Given the description of an element on the screen output the (x, y) to click on. 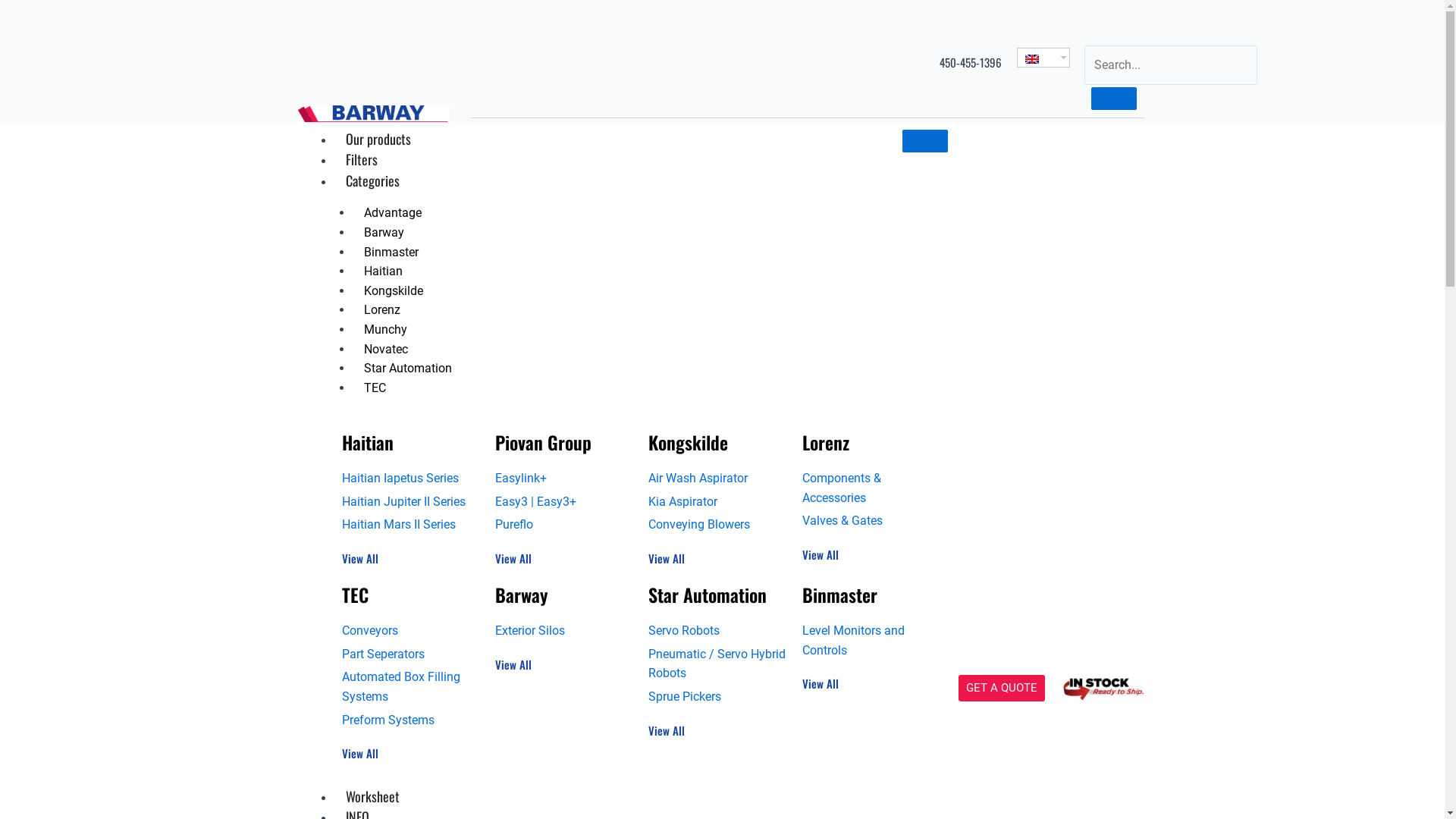
Barway Element type: text (521, 594)
Binmaster Element type: text (390, 251)
Valves & Gates Element type: text (871, 520)
Exterior Silos Element type: text (564, 630)
Haitian Iapetus Series Element type: text (410, 478)
Pneumatic / Servo Hybrid Robots Element type: text (717, 663)
Categories Element type: text (371, 180)
Barway Element type: text (382, 232)
Preform Systems Element type: text (410, 720)
Servo Robots Element type: text (717, 630)
Air Wash Aspirator Element type: text (717, 478)
Conveying Blowers Element type: text (717, 524)
View All Element type: text (668, 558)
Piovan Group Element type: text (543, 441)
Star Automation Element type: text (406, 367)
Kia Aspirator Element type: text (717, 501)
GET A QUOTE Element type: text (1001, 687)
TEC Element type: text (373, 387)
Automated Box Filling Systems Element type: text (410, 686)
Pureflo Element type: text (564, 524)
English Element type: hover (1031, 58)
View All Element type: text (822, 554)
Components & Accessories Element type: text (871, 487)
View All Element type: text (515, 664)
View All Element type: text (515, 558)
Level Monitors and Controls Element type: text (871, 640)
Star Automation Element type: text (707, 594)
Haitian Jupiter II Series Element type: text (410, 501)
View All Element type: text (822, 683)
Our products Element type: text (377, 138)
Kongskilde Element type: text (688, 441)
Easy3 | Easy3+ Element type: text (564, 501)
Haitian Element type: text (366, 441)
Sprue Pickers Element type: text (717, 696)
Binmaster Element type: text (839, 594)
Kongskilde Element type: text (392, 290)
View All Element type: text (361, 753)
Worksheet Element type: text (371, 796)
Advantage Element type: text (391, 212)
TEC Element type: text (354, 594)
Conveyors Element type: text (410, 630)
Haitian Mars II Series Element type: text (410, 524)
Filters Element type: text (360, 159)
Lorenz Element type: text (825, 441)
Easylink+ Element type: text (564, 478)
Lorenz Element type: text (381, 309)
Part Seperators Element type: text (410, 654)
Novatec Element type: text (384, 348)
Munchy Element type: text (384, 329)
View All Element type: text (668, 730)
Haitian Element type: text (382, 270)
  Element type: text (1043, 56)
View All Element type: text (361, 558)
